Given the description of an element on the screen output the (x, y) to click on. 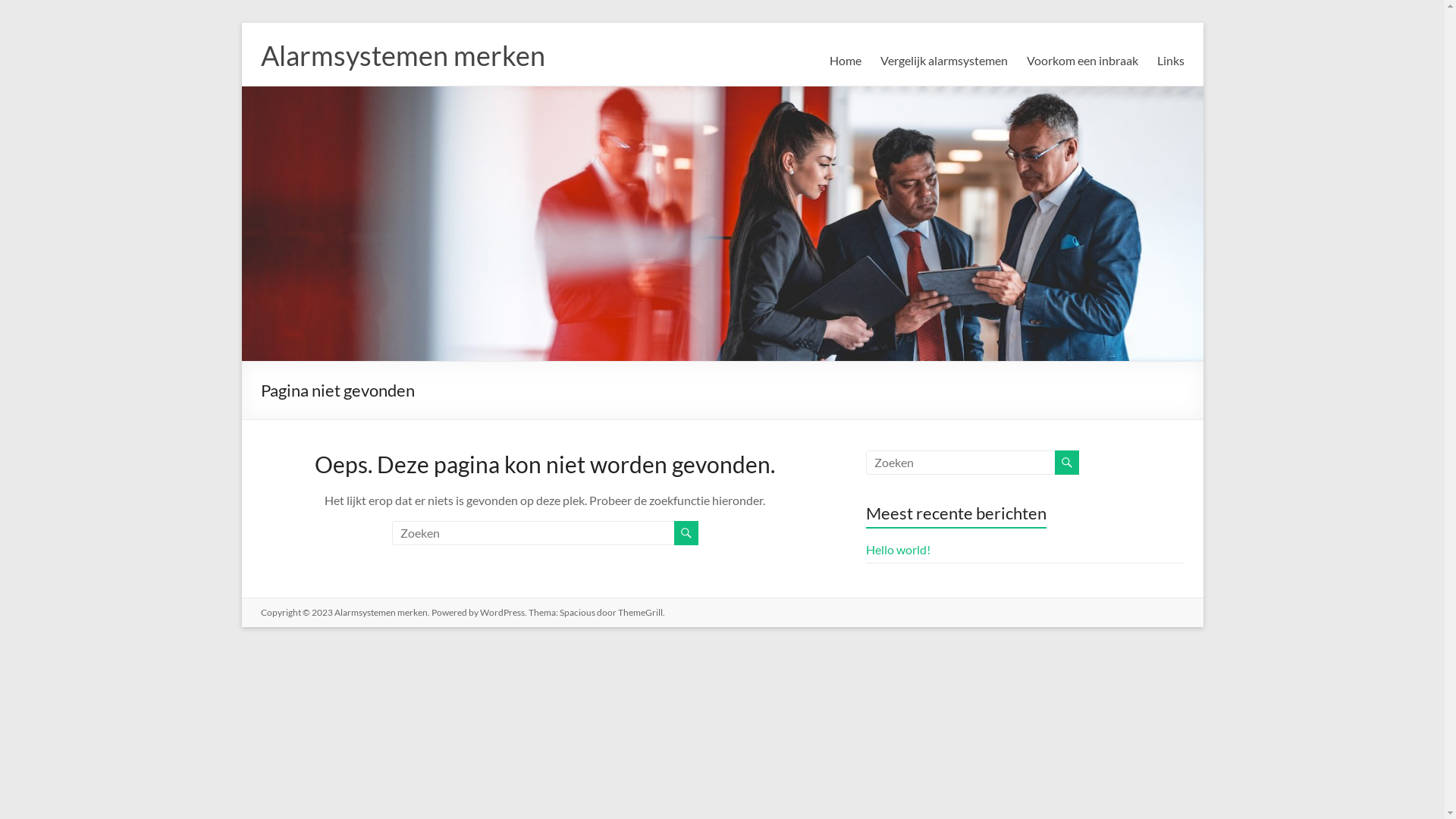
Voorkom een inbraak Element type: text (1082, 60)
Home Element type: text (845, 60)
Alarmsystemen merken Element type: text (402, 55)
Hello world! Element type: text (898, 549)
Alarmsystemen merken Element type: text (379, 612)
WordPress Element type: text (501, 612)
Links Element type: text (1170, 60)
Skip to content Element type: text (241, 21)
ThemeGrill Element type: text (639, 612)
Vergelijk alarmsystemen Element type: text (943, 60)
